Given the description of an element on the screen output the (x, y) to click on. 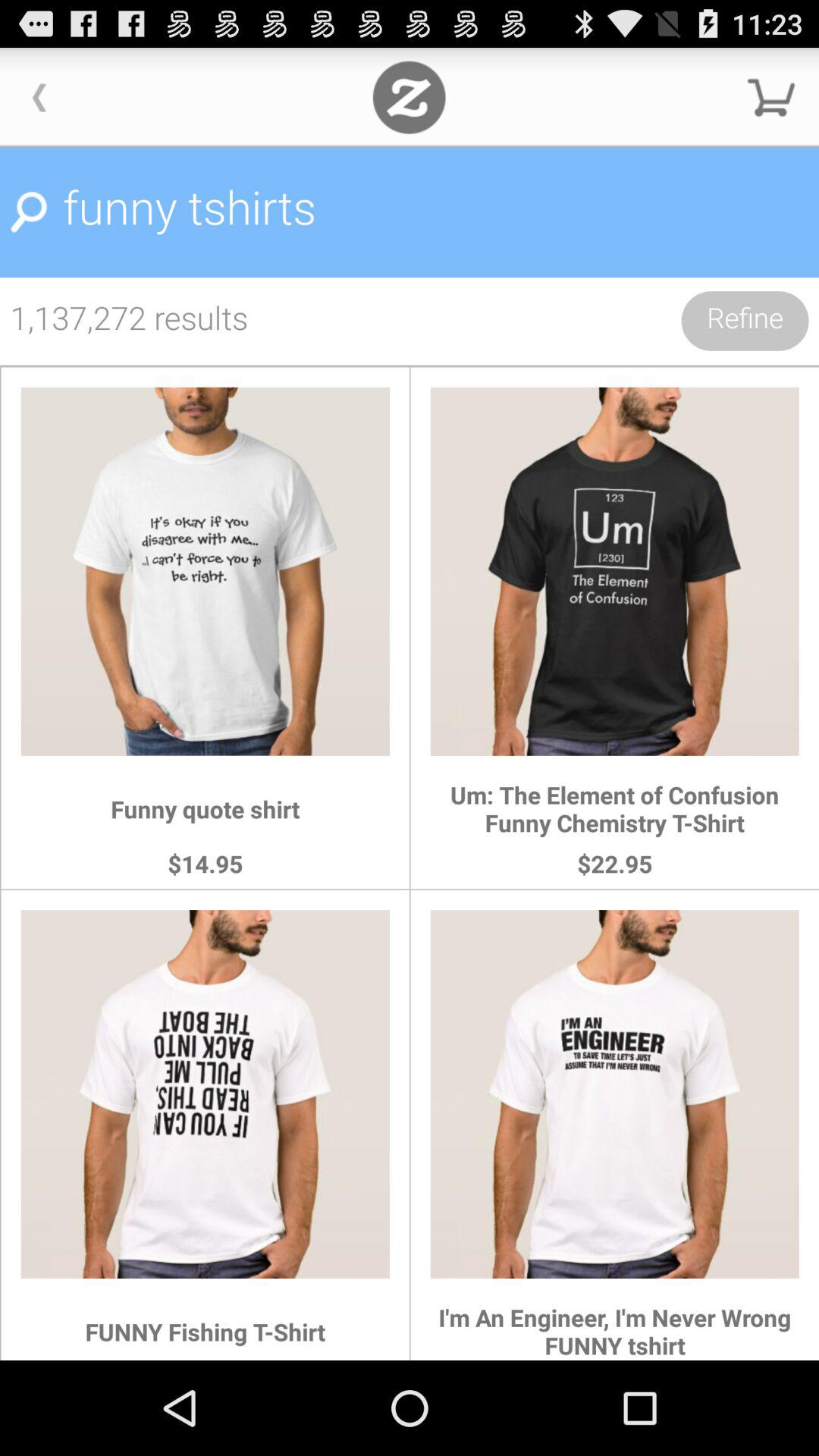
go back (39, 97)
